Given the description of an element on the screen output the (x, y) to click on. 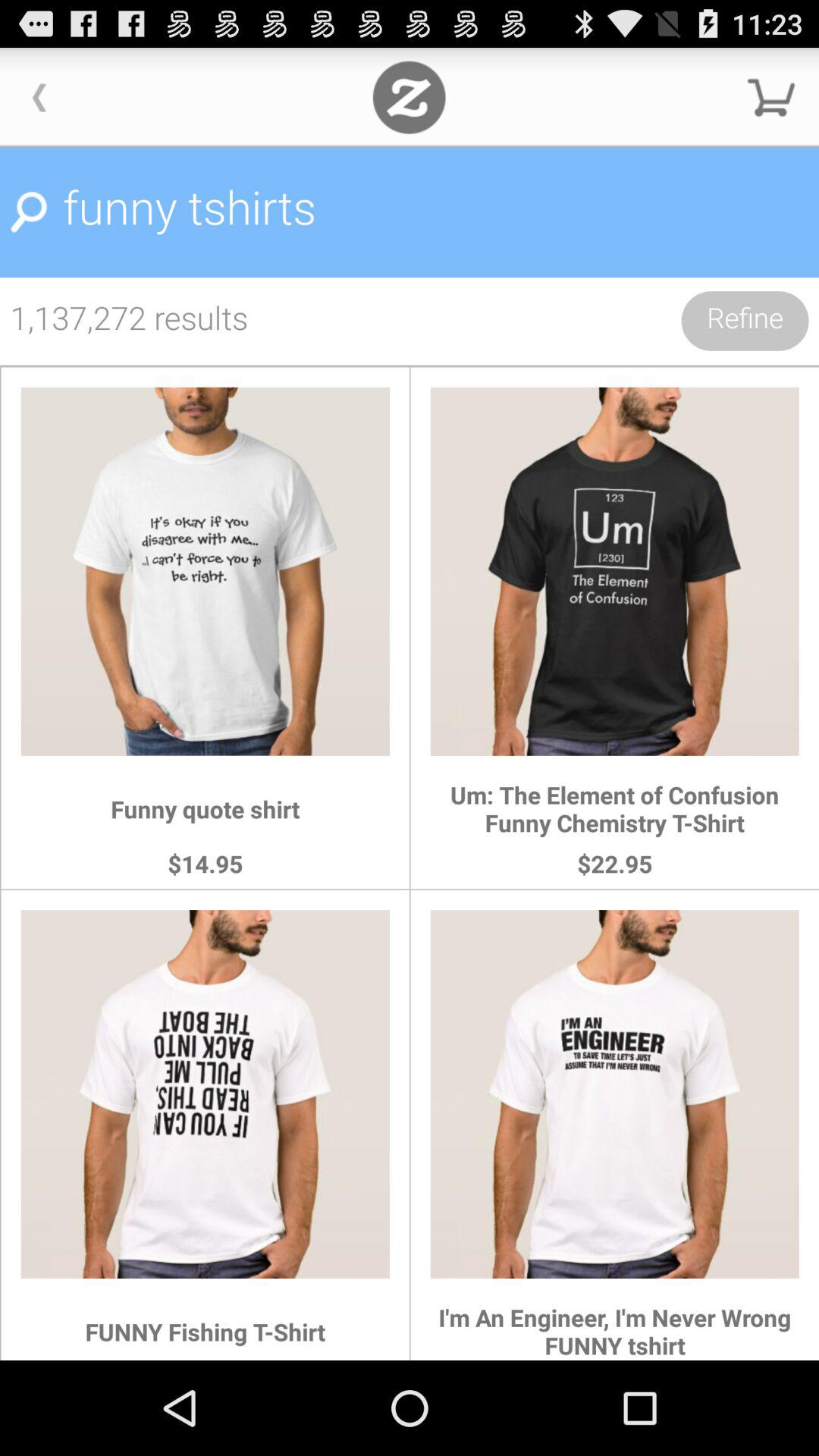
go back (39, 97)
